Given the description of an element on the screen output the (x, y) to click on. 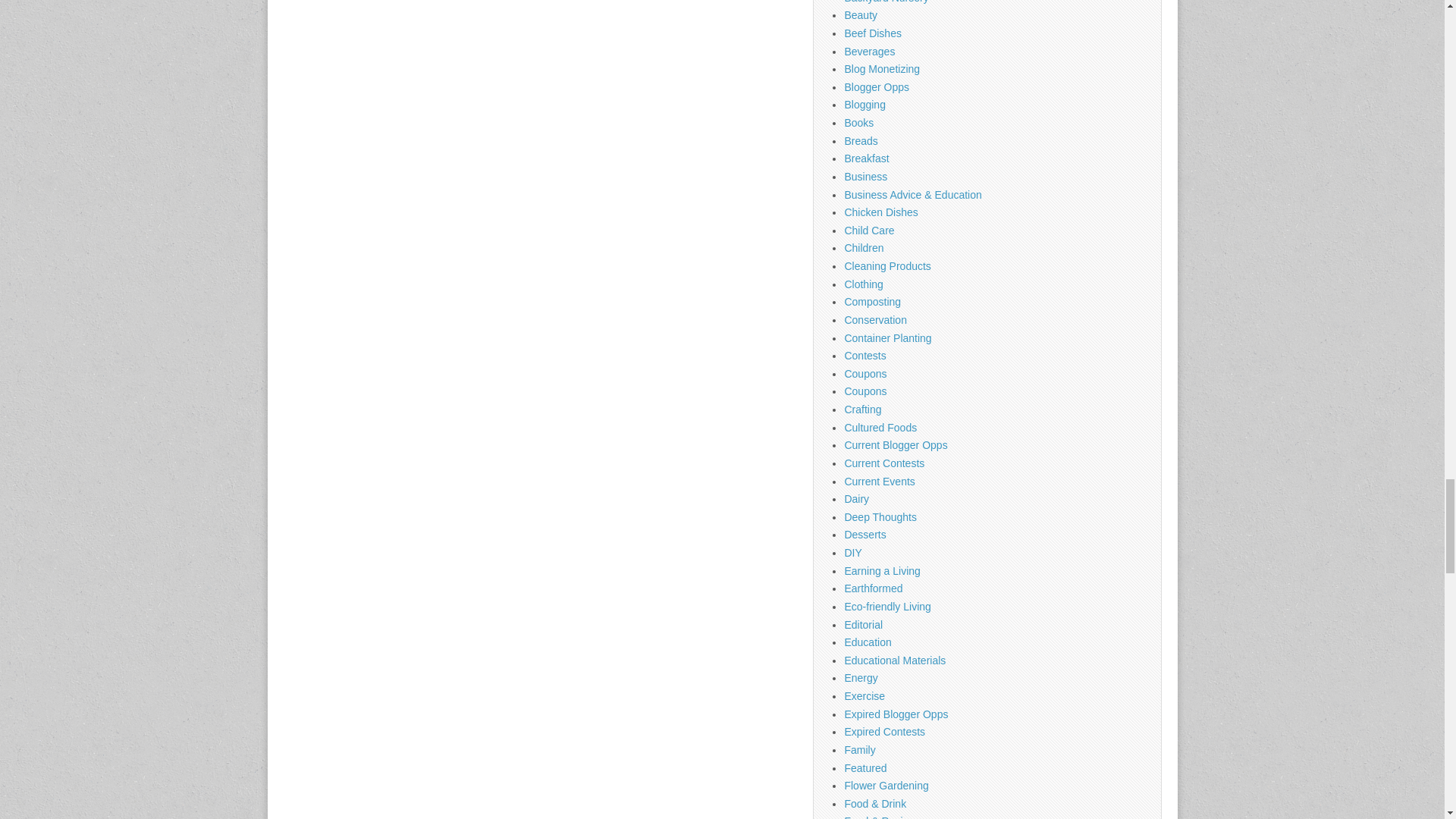
Our babies are precious let's care for them the best we can. (868, 230)
